Given the description of an element on the screen output the (x, y) to click on. 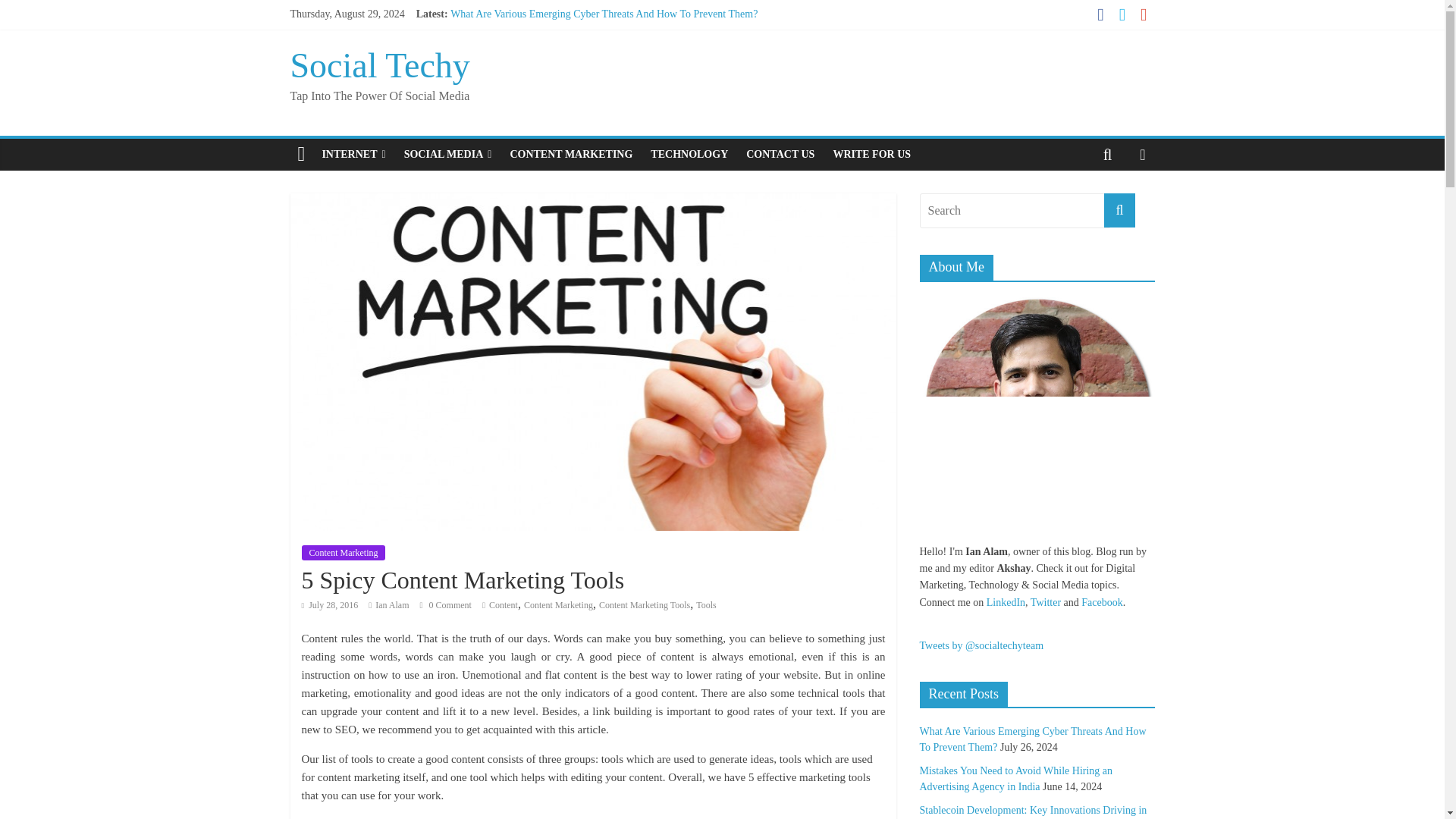
Stablecoin Development: Key Innovations Driving in 2024 (575, 48)
Content (503, 604)
CONTACT US (780, 154)
Impact of Web Design on Branding and Marketing (557, 64)
SOCIAL MEDIA (447, 154)
Stablecoin Development: Key Innovations Driving in 2024 (575, 48)
WRITE FOR US (872, 154)
